Given the description of an element on the screen output the (x, y) to click on. 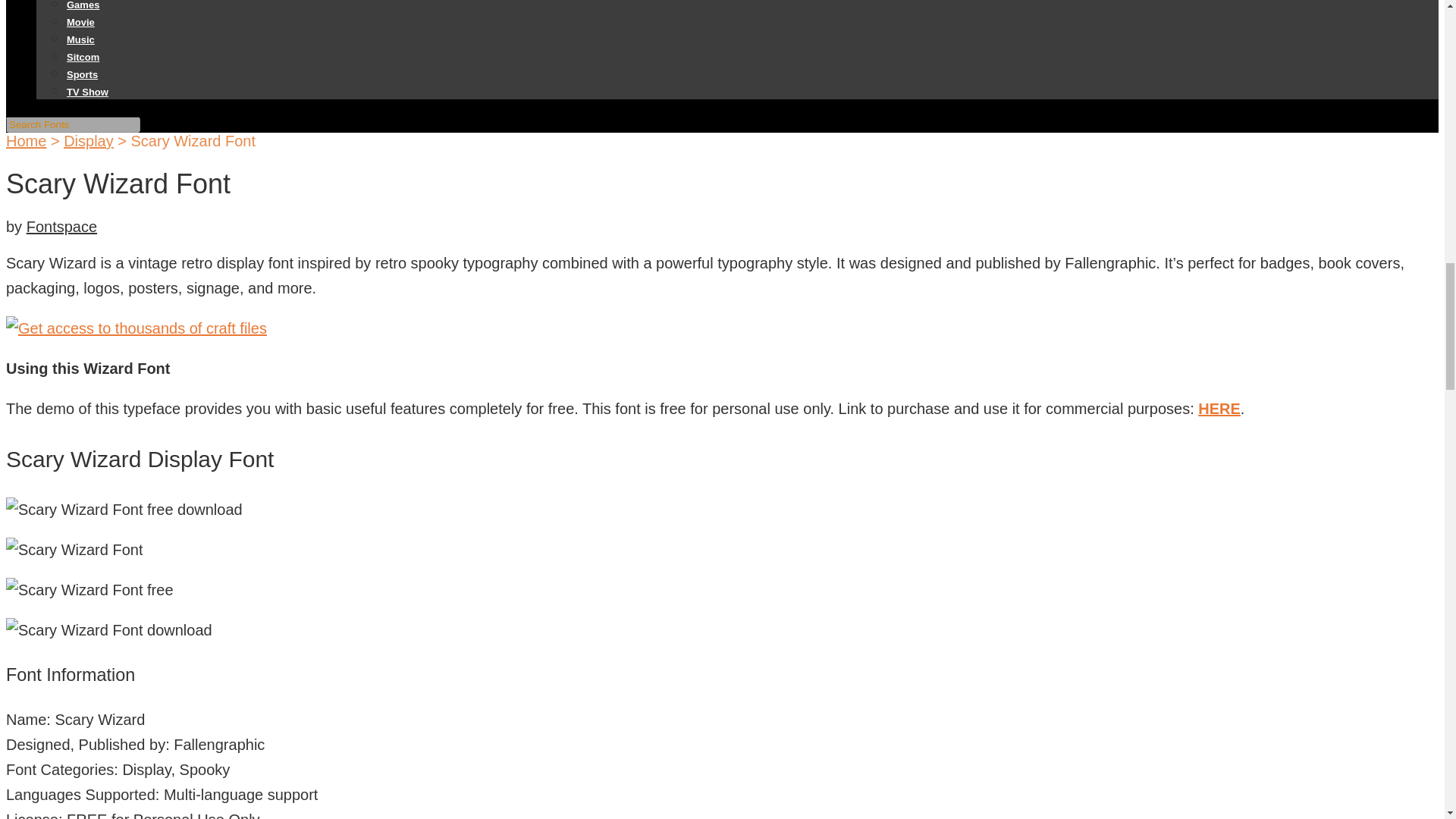
Get access to thousands of craft files (135, 328)
